Given the description of an element on the screen output the (x, y) to click on. 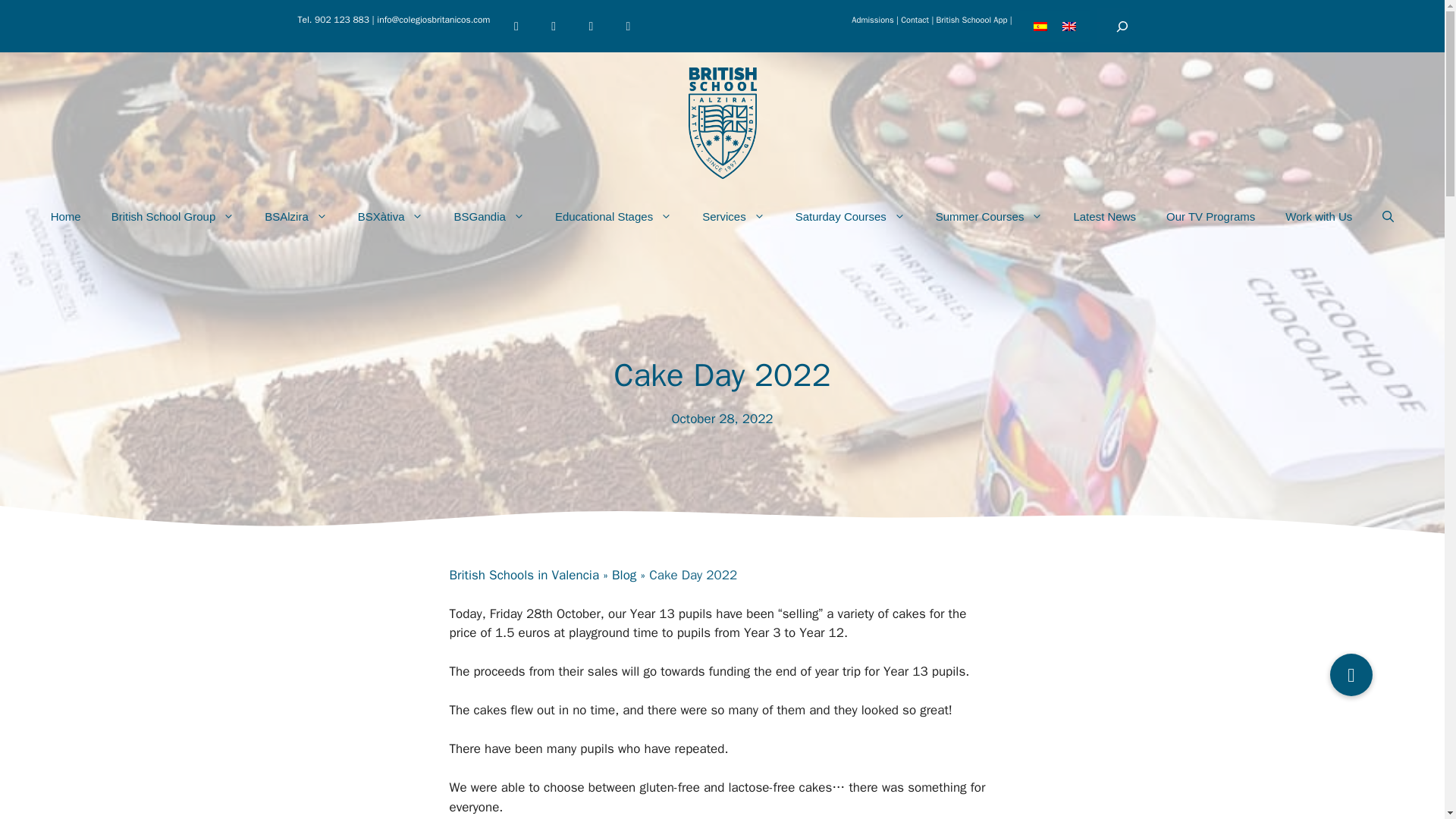
Admissions (872, 19)
Instagram (591, 26)
Linkedin (628, 26)
902 123 883 (341, 19)
Youtube (553, 26)
Contact (914, 19)
British Schoool App (971, 19)
Facebook (515, 26)
